Given the description of an element on the screen output the (x, y) to click on. 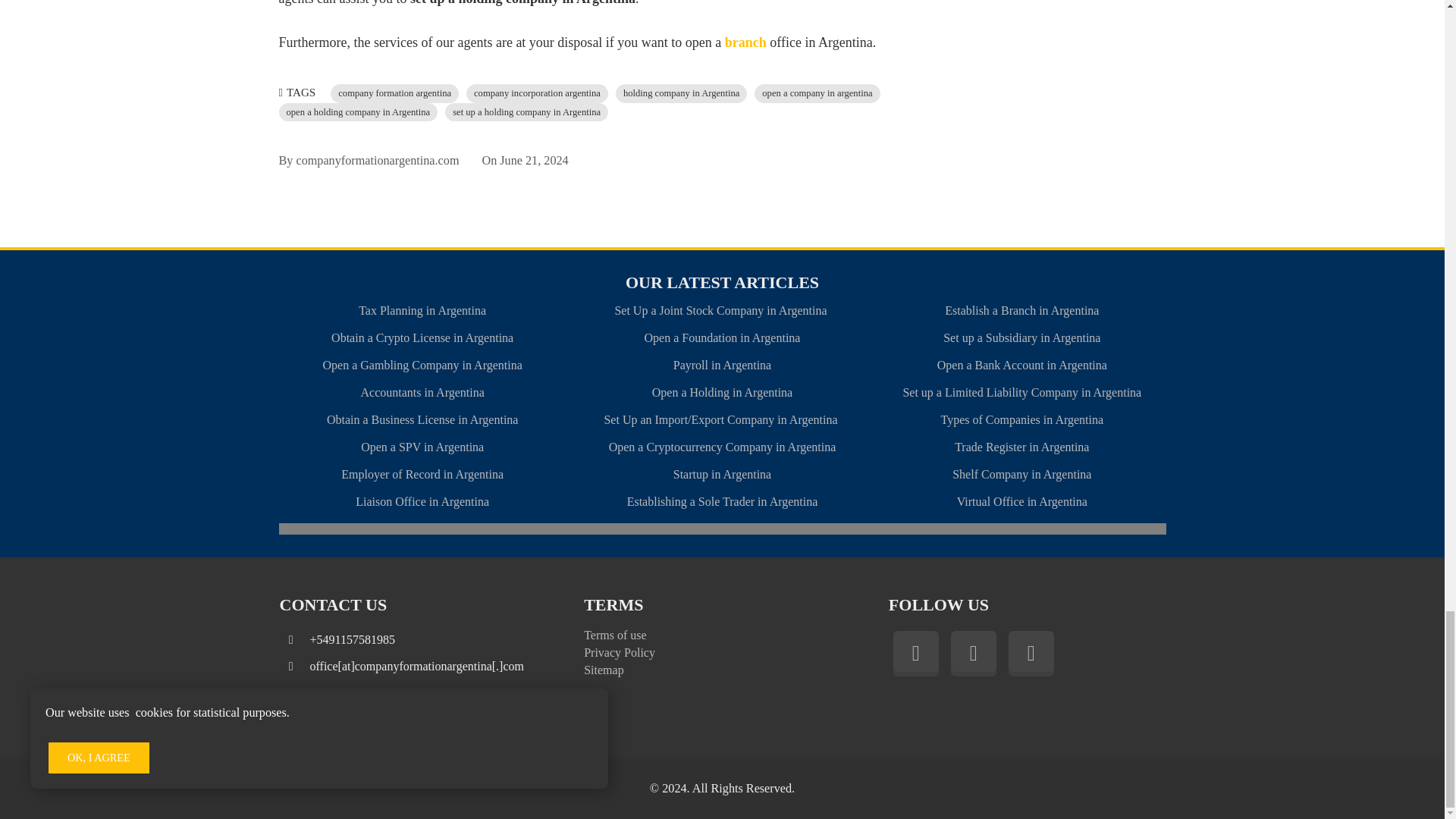
open a company in argentina (816, 93)
branch (746, 42)
holding company in Argentina (680, 93)
set up a holding company in Argentina (526, 112)
company incorporation argentina (536, 93)
open a holding company in Argentina (358, 112)
company formation argentina (394, 93)
